Given the description of an element on the screen output the (x, y) to click on. 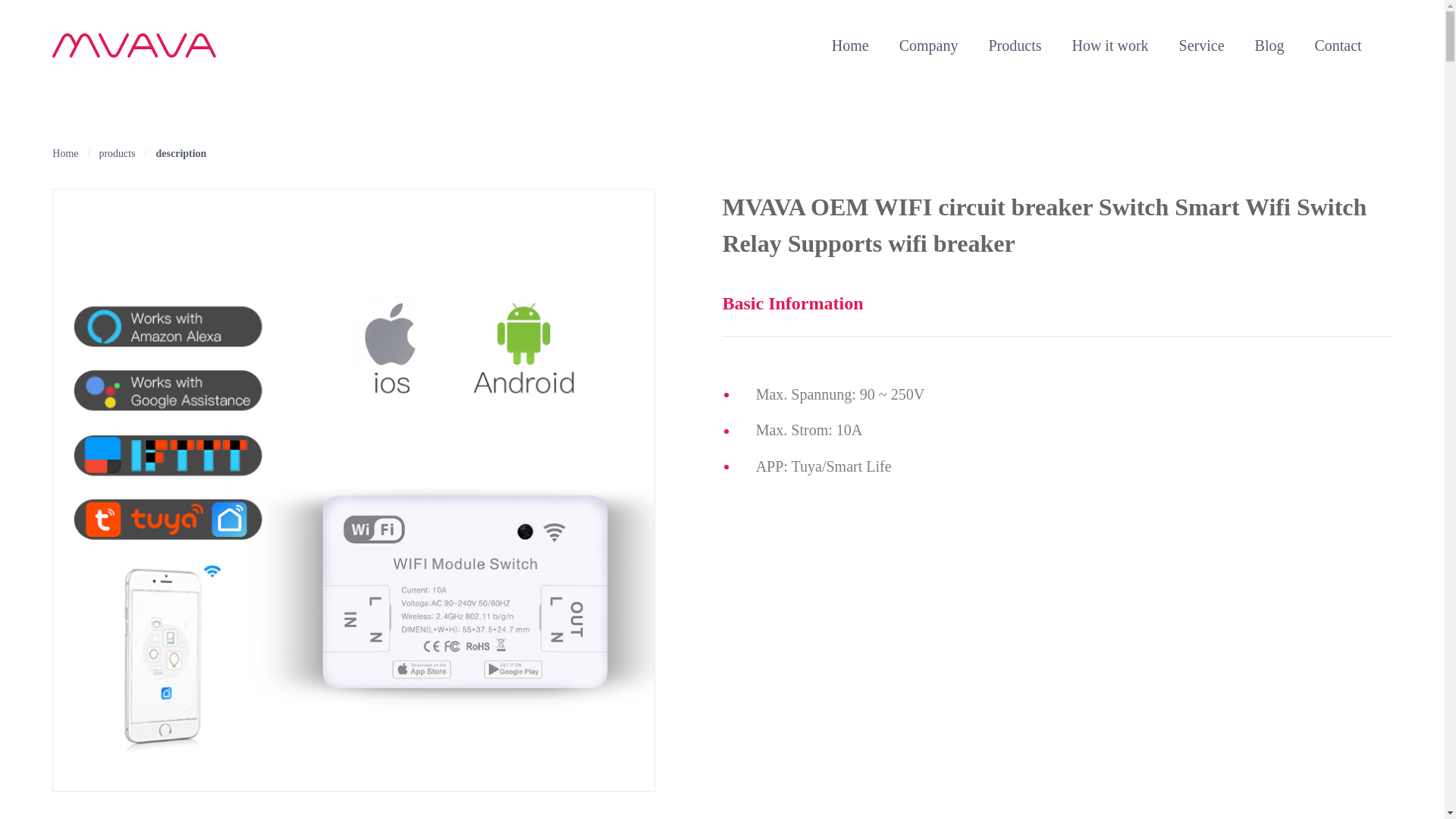
products (117, 153)
Home (65, 153)
